Given the description of an element on the screen output the (x, y) to click on. 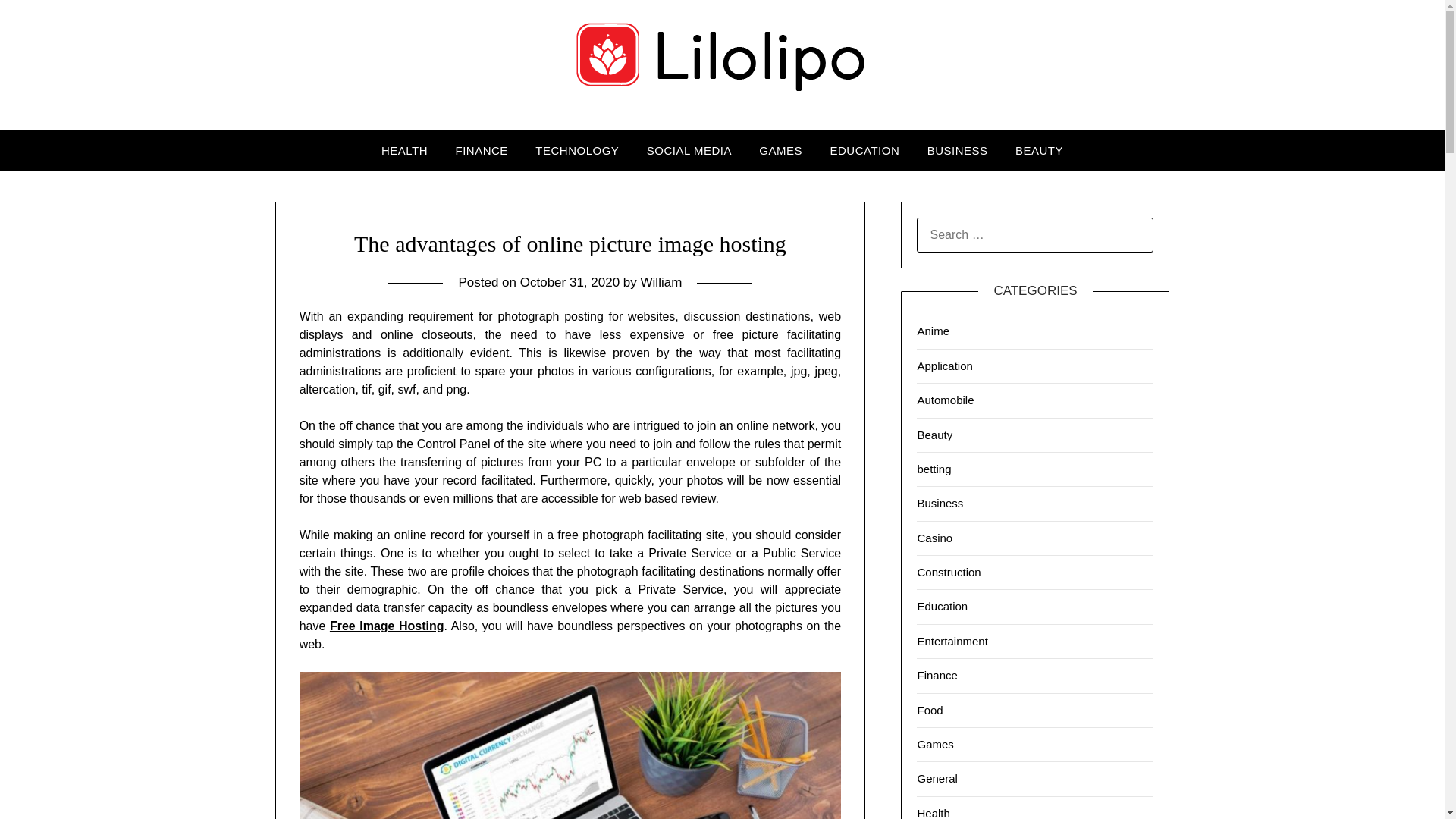
Casino (934, 537)
General (936, 778)
Health (933, 812)
TECHNOLOGY (576, 150)
EDUCATION (863, 150)
Education (942, 605)
FINANCE (480, 150)
Business (939, 502)
Free Image Hosting (387, 625)
October 31, 2020 (569, 282)
GAMES (779, 150)
Beauty (934, 433)
BUSINESS (957, 150)
Application (944, 365)
betting (933, 468)
